Given the description of an element on the screen output the (x, y) to click on. 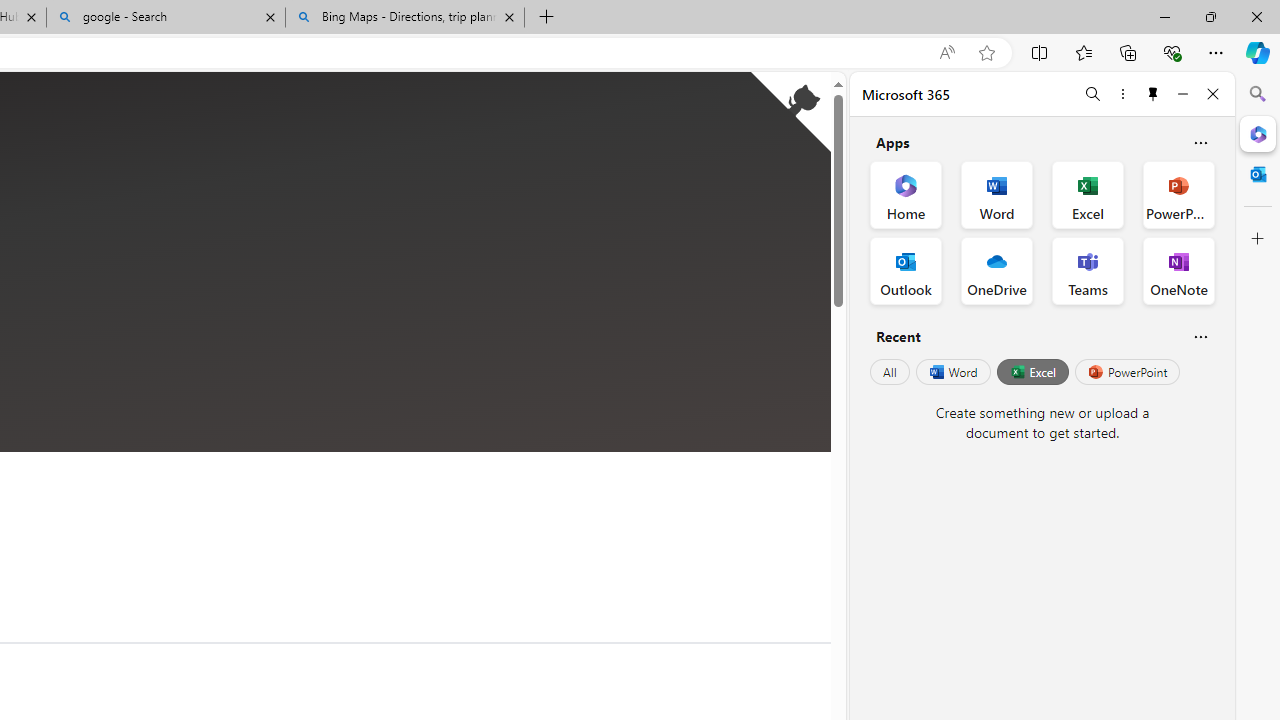
Home Office App (906, 194)
Excel (1031, 372)
Teams Office App (1087, 270)
PowerPoint Office App (1178, 194)
PowerPoint (1127, 372)
